Given the description of an element on the screen output the (x, y) to click on. 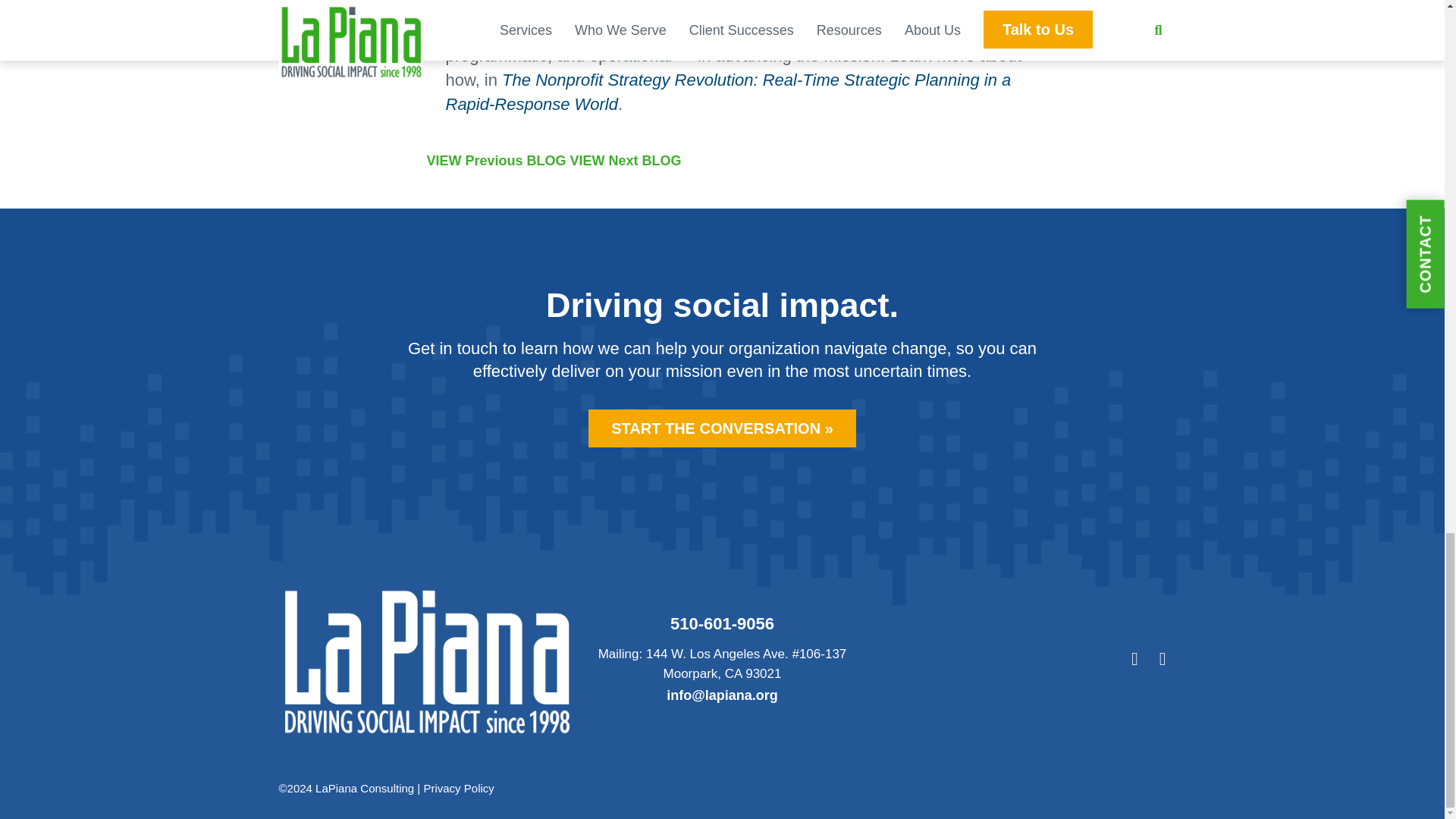
510-601-9056 (721, 623)
VIEW Previous BLOG (496, 160)
VIEW Next BLOG (625, 160)
